Given the description of an element on the screen output the (x, y) to click on. 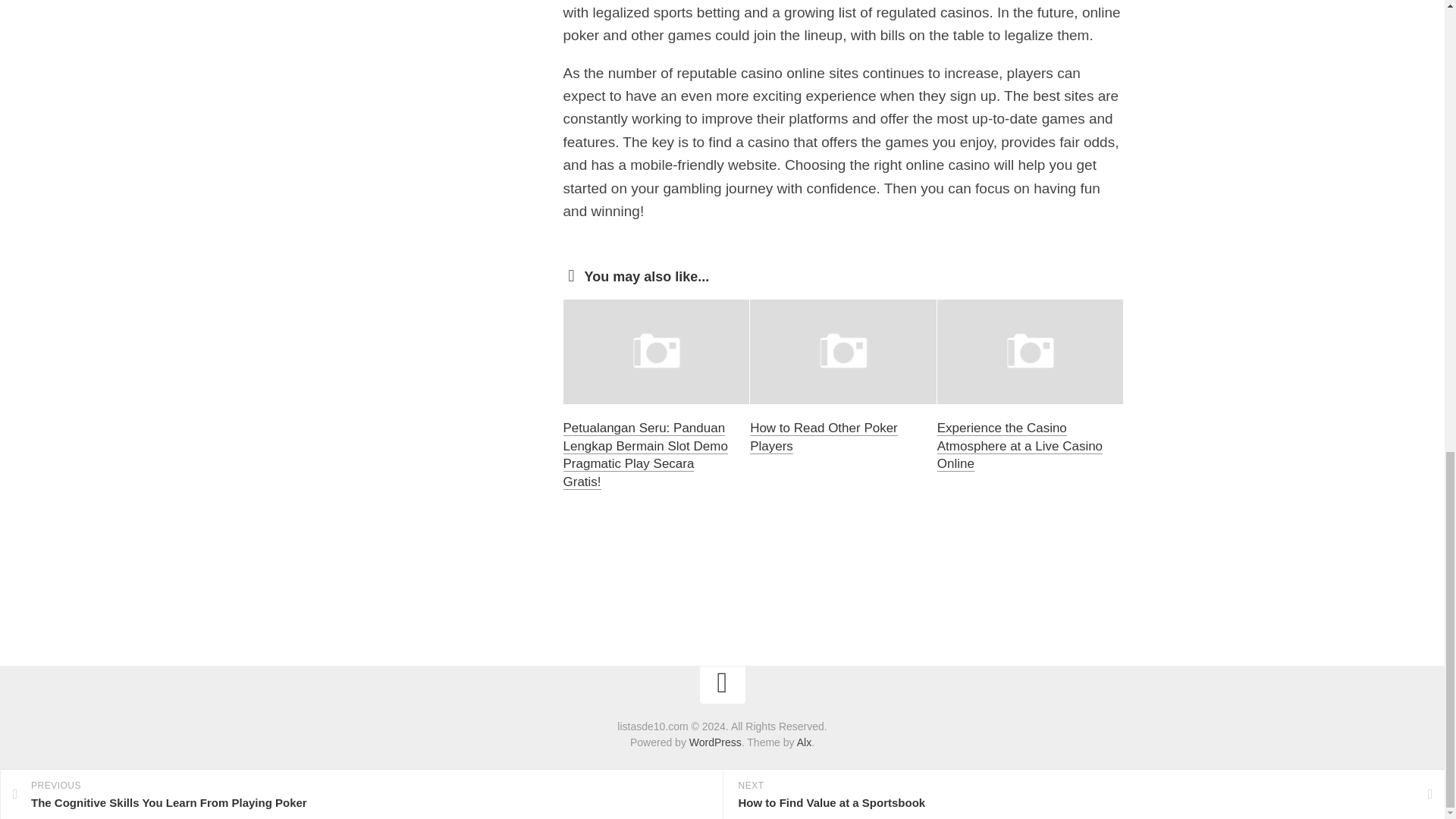
Experience the Casino Atmosphere at a Live Casino Online (1019, 445)
Alx (803, 742)
How to Read Other Poker Players (823, 436)
WordPress (714, 742)
